Given the description of an element on the screen output the (x, y) to click on. 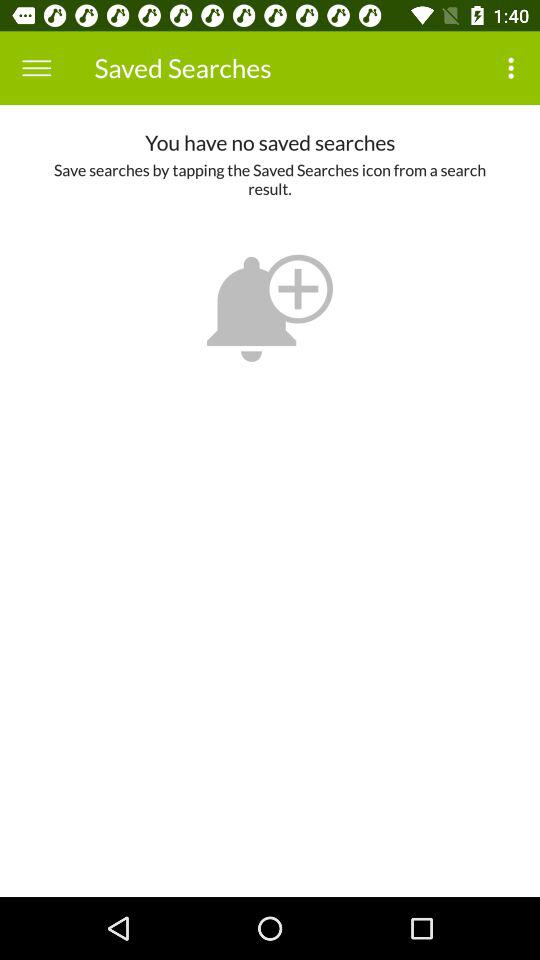
press the item above the you have no (513, 67)
